Given the description of an element on the screen output the (x, y) to click on. 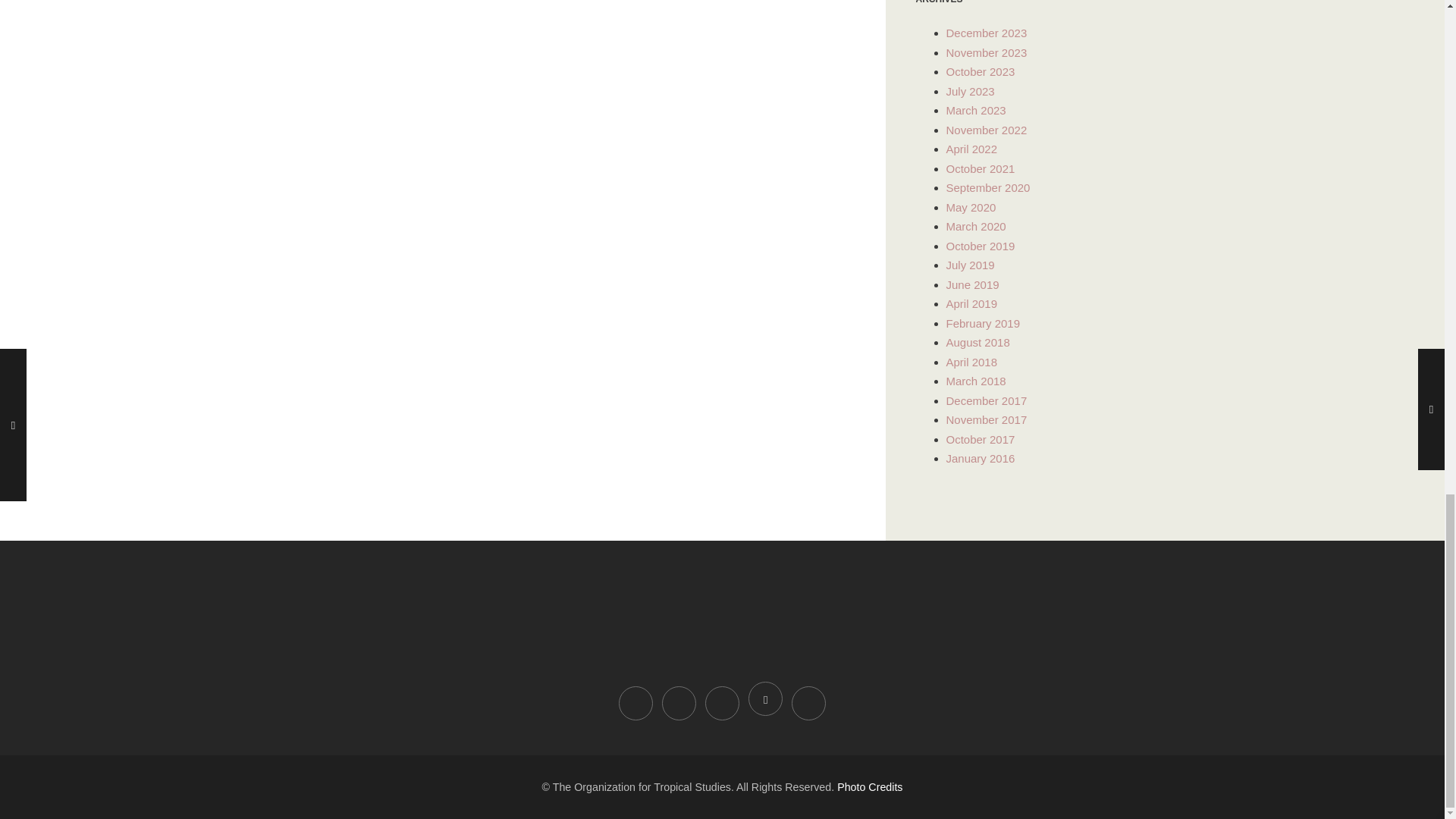
October 2019 (980, 245)
June 2019 (972, 284)
July 2019 (970, 264)
October 2023 (980, 71)
November 2023 (986, 51)
November 2022 (986, 129)
April 2022 (971, 148)
April 2019 (971, 303)
October 2021 (980, 168)
September 2020 (988, 187)
